Given the description of an element on the screen output the (x, y) to click on. 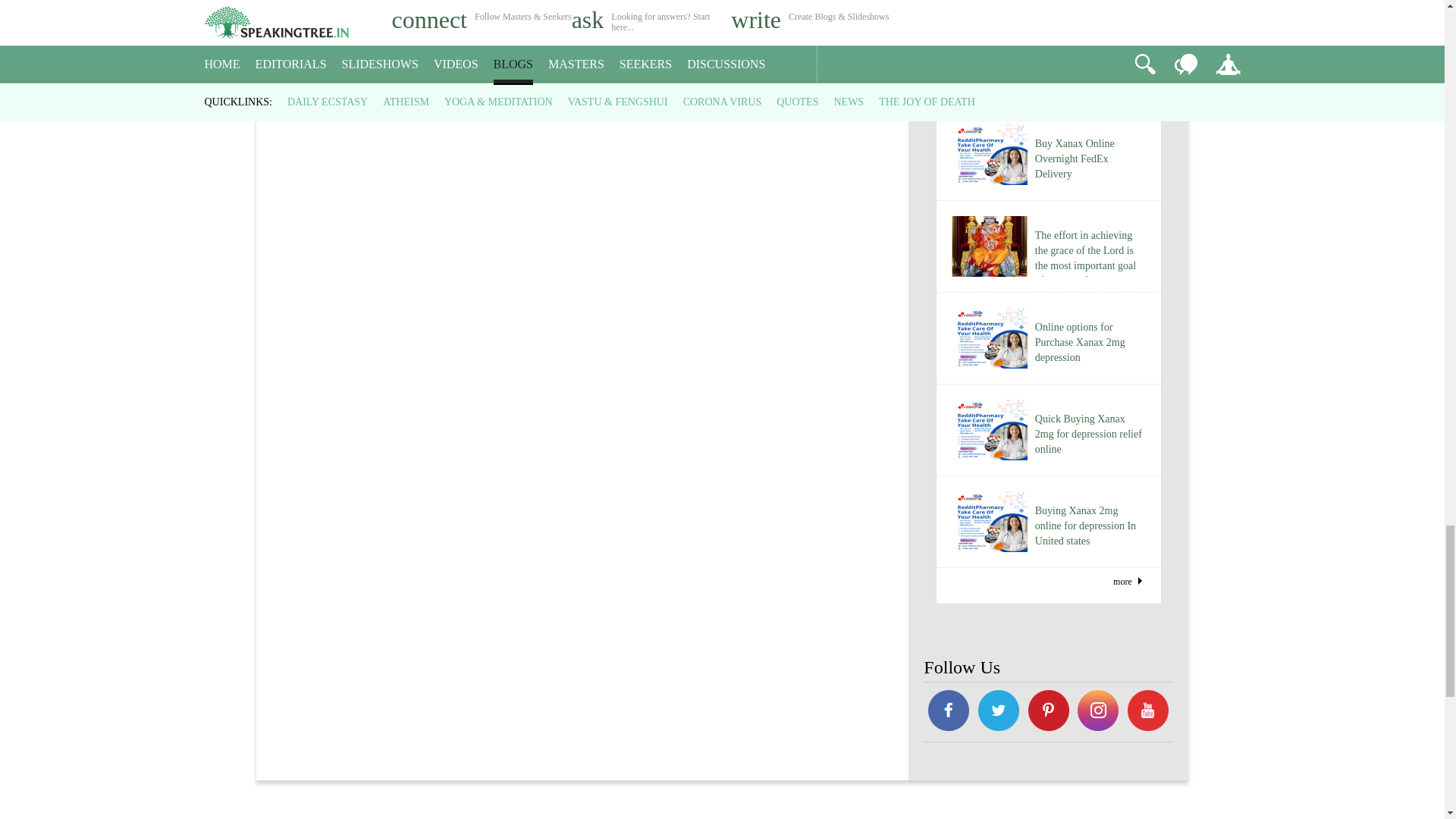
Speaking Tree FaceBook (1147, 712)
Speaking Tree FaceBook (1048, 712)
Speaking Tree FaceBook (998, 712)
Speaking Tree FaceBook (948, 712)
Speaking Tree FaceBook (1099, 712)
